Given the description of an element on the screen output the (x, y) to click on. 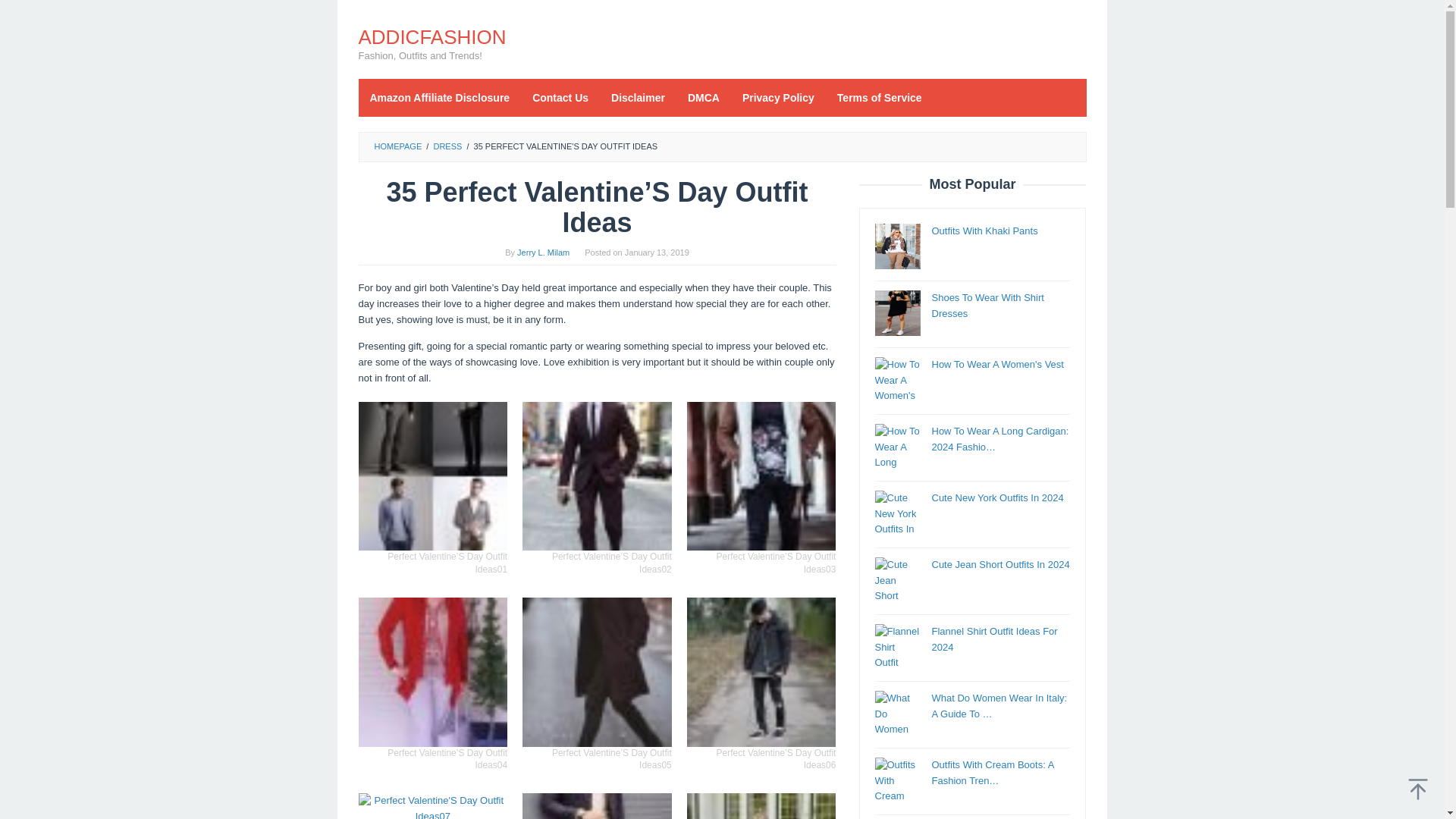
Perfect Valentine'S Day Outfit Ideas06 (761, 671)
DMCA (703, 97)
Perfect Valentine'S Day Outfit Ideas01 (432, 476)
Perfect Valentine'S Day Outfit Ideas03 (761, 476)
Privacy Policy (777, 97)
Perfect Valentine'S Day Outfit Ideas02 (596, 476)
DRESS (446, 145)
Terms of Service (879, 97)
Jerry L. Milam (542, 252)
Amazon Affiliate Disclosure (439, 97)
Permalink to: Jerry L. Milam (542, 252)
ADDICFASHION (431, 36)
Perfect Valentine'S Day Outfit Ideas04 (432, 671)
HOMEPAGE (398, 145)
Perfect Valentine'S Day Outfit Ideas08 (596, 806)
